Given the description of an element on the screen output the (x, y) to click on. 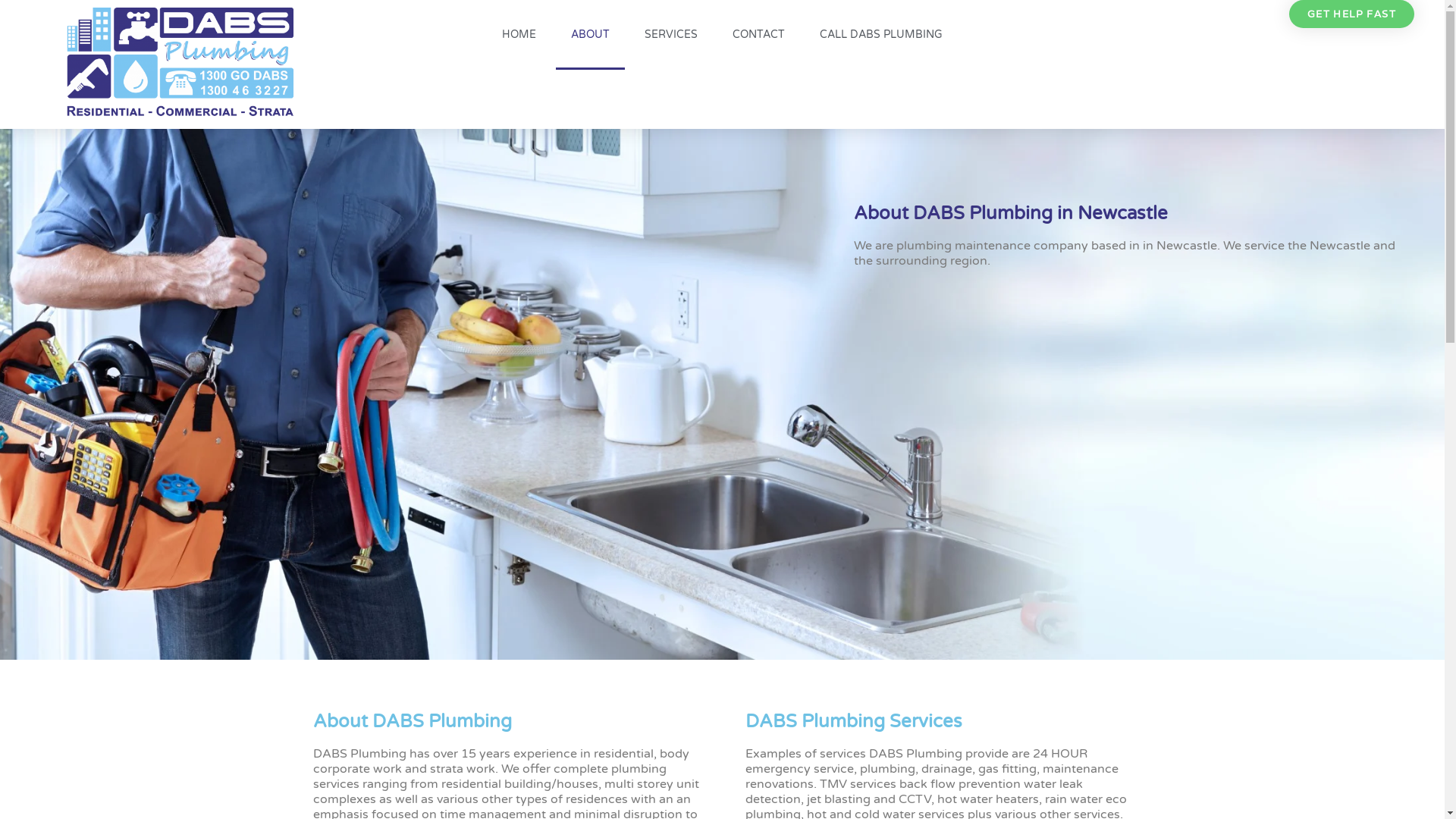
ABOUT Element type: text (589, 34)
HOME Element type: text (518, 34)
SERVICES Element type: text (670, 34)
GET HELP FAST Element type: text (1351, 14)
CONTACT Element type: text (758, 34)
CALL DABS PLUMBING Element type: text (880, 34)
